Given the description of an element on the screen output the (x, y) to click on. 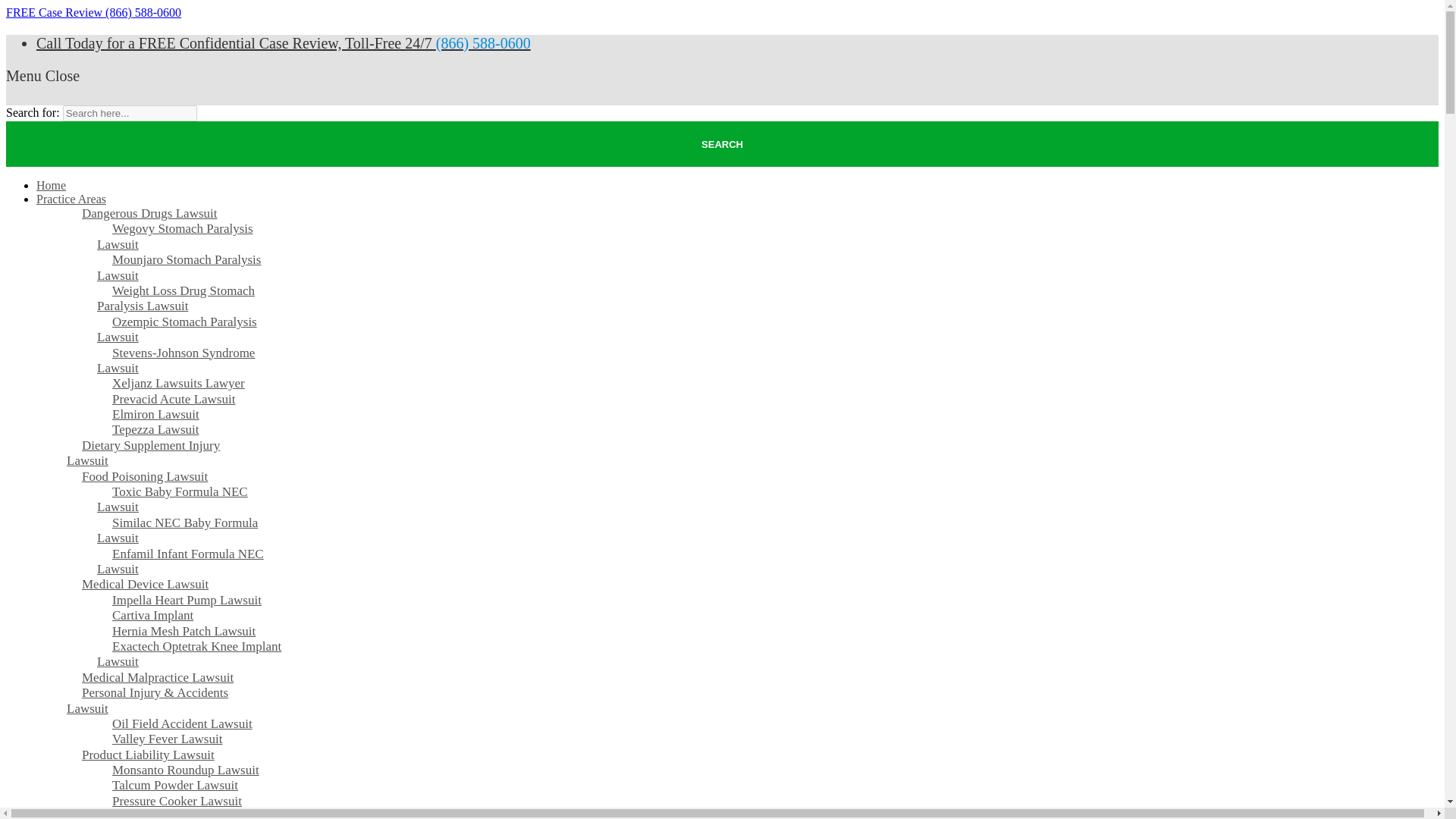
Prevacid Acute Lawsuit (173, 399)
Dietary Supplement Injury Lawsuit (142, 452)
Search (721, 144)
Wegovy Stomach Paralysis Lawsuit (175, 235)
Xeljanz Lawsuits Lawyer (178, 383)
Stevens-Johnson Syndrome Lawsuit (175, 360)
Enfamil Infant Formula NEC Lawsuit (180, 560)
Oil Field Accident Lawsuit (182, 723)
Dangerous Drugs Lawsuit (148, 213)
Practice Areas (71, 198)
